Given the description of an element on the screen output the (x, y) to click on. 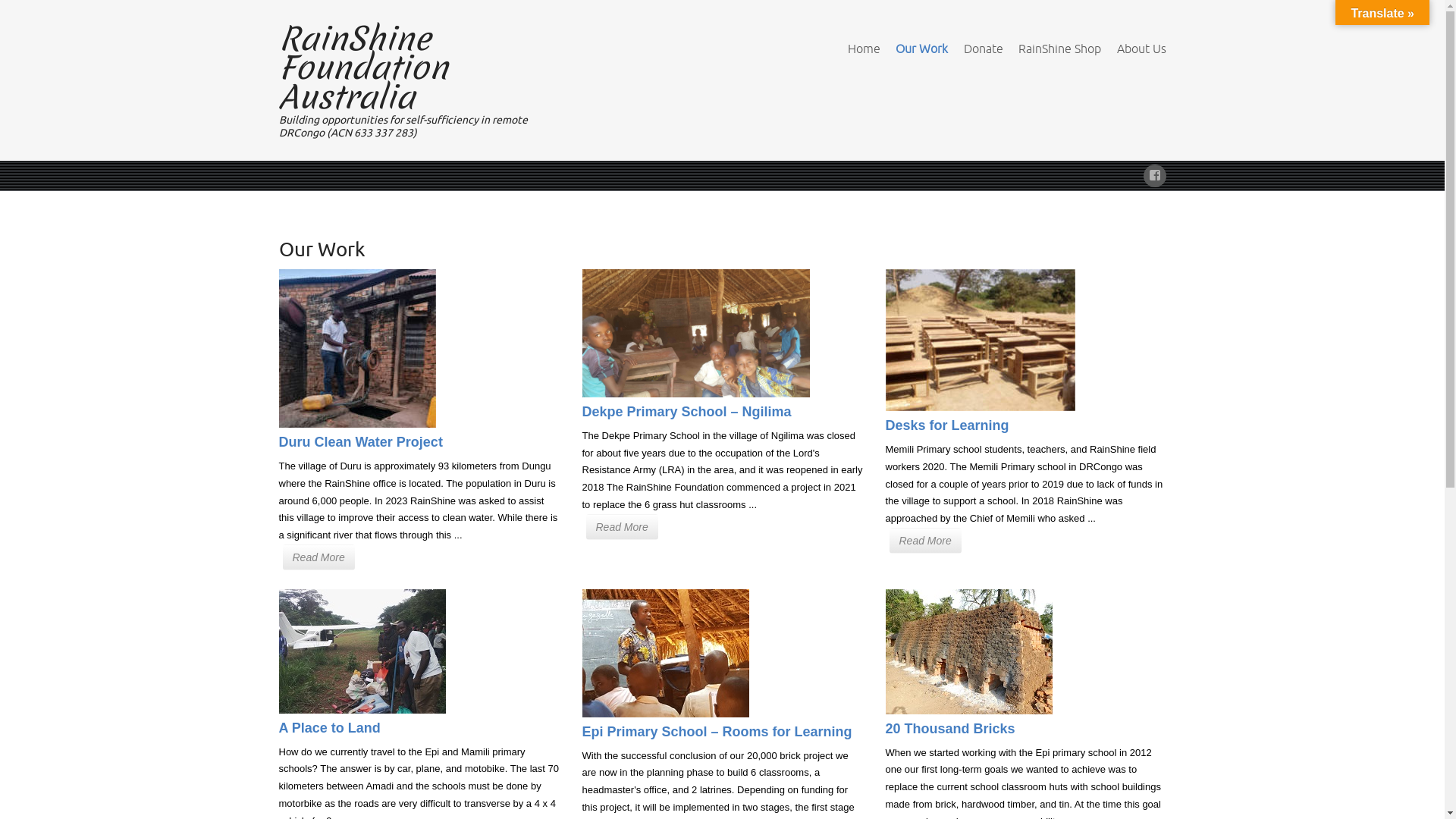
Read More Element type: text (621, 526)
Our Work Element type: text (921, 48)
Donate Element type: text (983, 48)
RainShine Foundation Australia Element type: text (363, 68)
Desks for Learning Element type: text (947, 425)
Read More Element type: text (924, 540)
Facebook Element type: hover (1154, 172)
Read More Element type: text (318, 557)
About Us Element type: text (1140, 48)
RainShine Shop Element type: text (1059, 48)
Duru Clean Water Project Element type: text (360, 441)
20 Thousand Bricks Element type: text (950, 728)
A Place to Land Element type: text (329, 727)
Home Element type: text (863, 48)
